Given the description of an element on the screen output the (x, y) to click on. 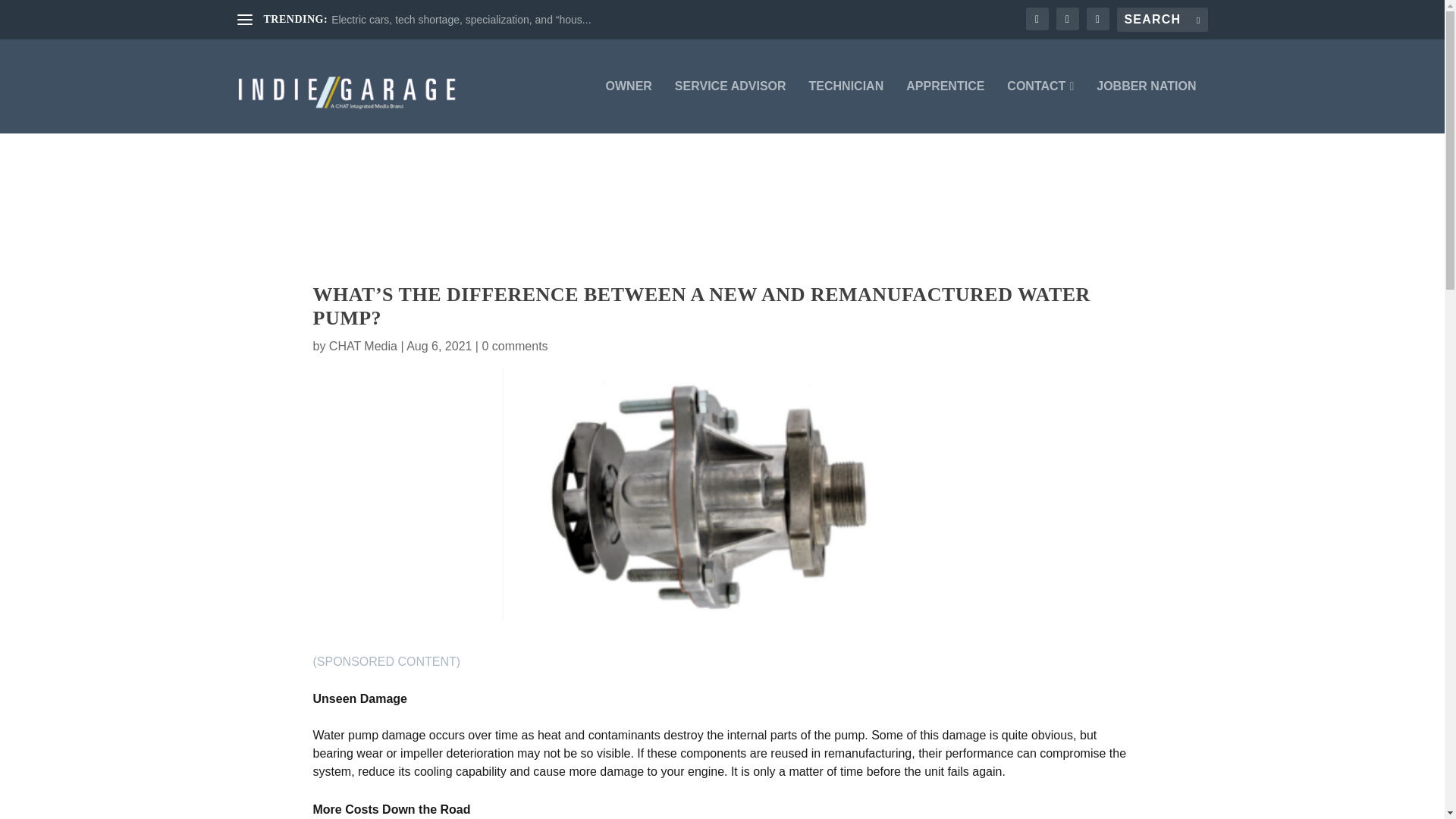
APPRENTICE (944, 106)
TECHNICIAN (846, 106)
SERVICE ADVISOR (730, 106)
CHAT Media (363, 345)
Posts by CHAT Media (363, 345)
CONTACT (1040, 106)
JOBBER NATION (1145, 106)
0 comments (514, 345)
3rd party ad content (721, 207)
Search for: (1161, 19)
